Given the description of an element on the screen output the (x, y) to click on. 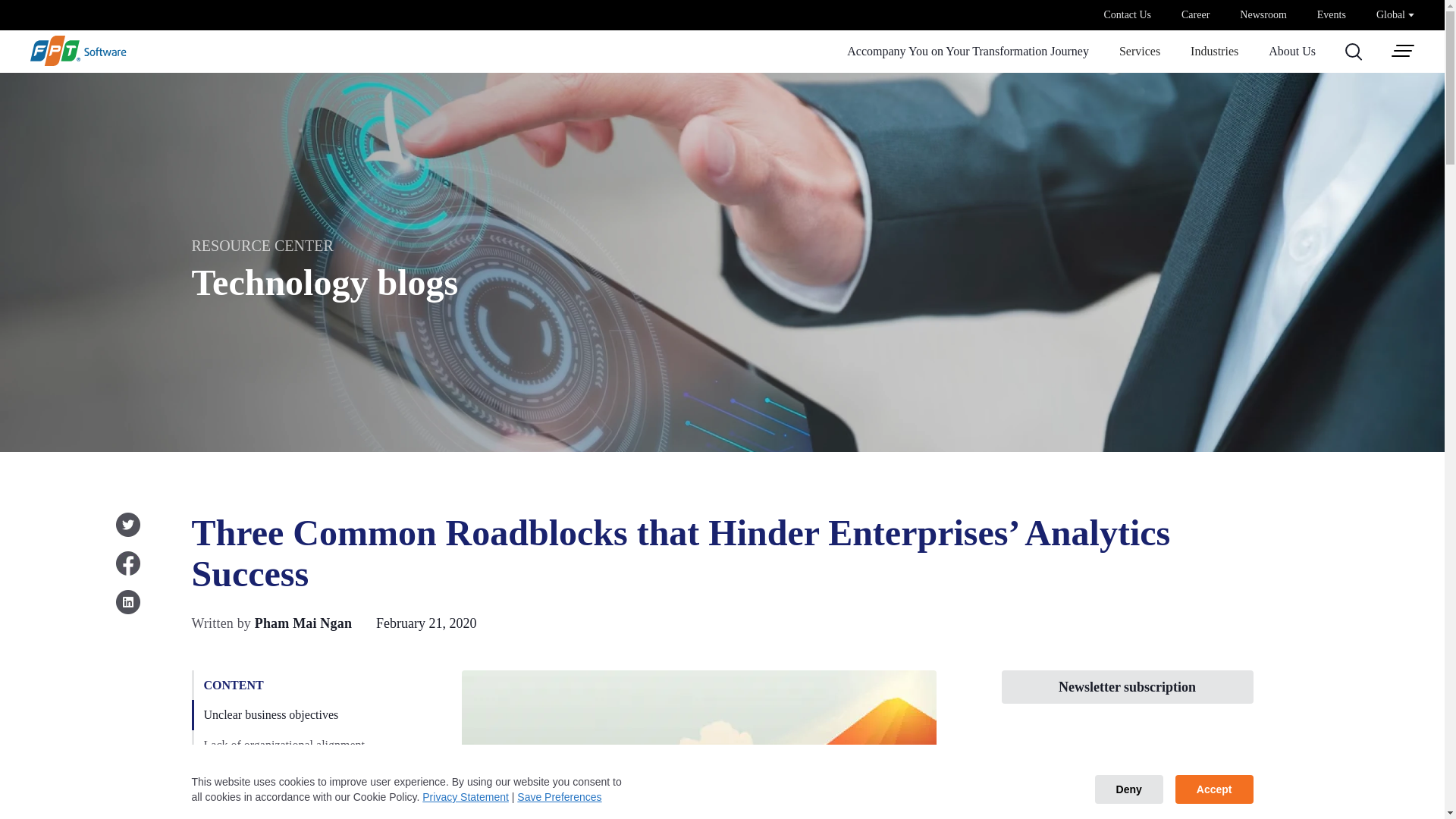
Newsroom (1262, 14)
Services (1139, 51)
Events (1331, 14)
Contact Us (1127, 14)
Accompany You on Your Transformation Journey (968, 51)
Career (1194, 14)
Global (1394, 14)
